Given the description of an element on the screen output the (x, y) to click on. 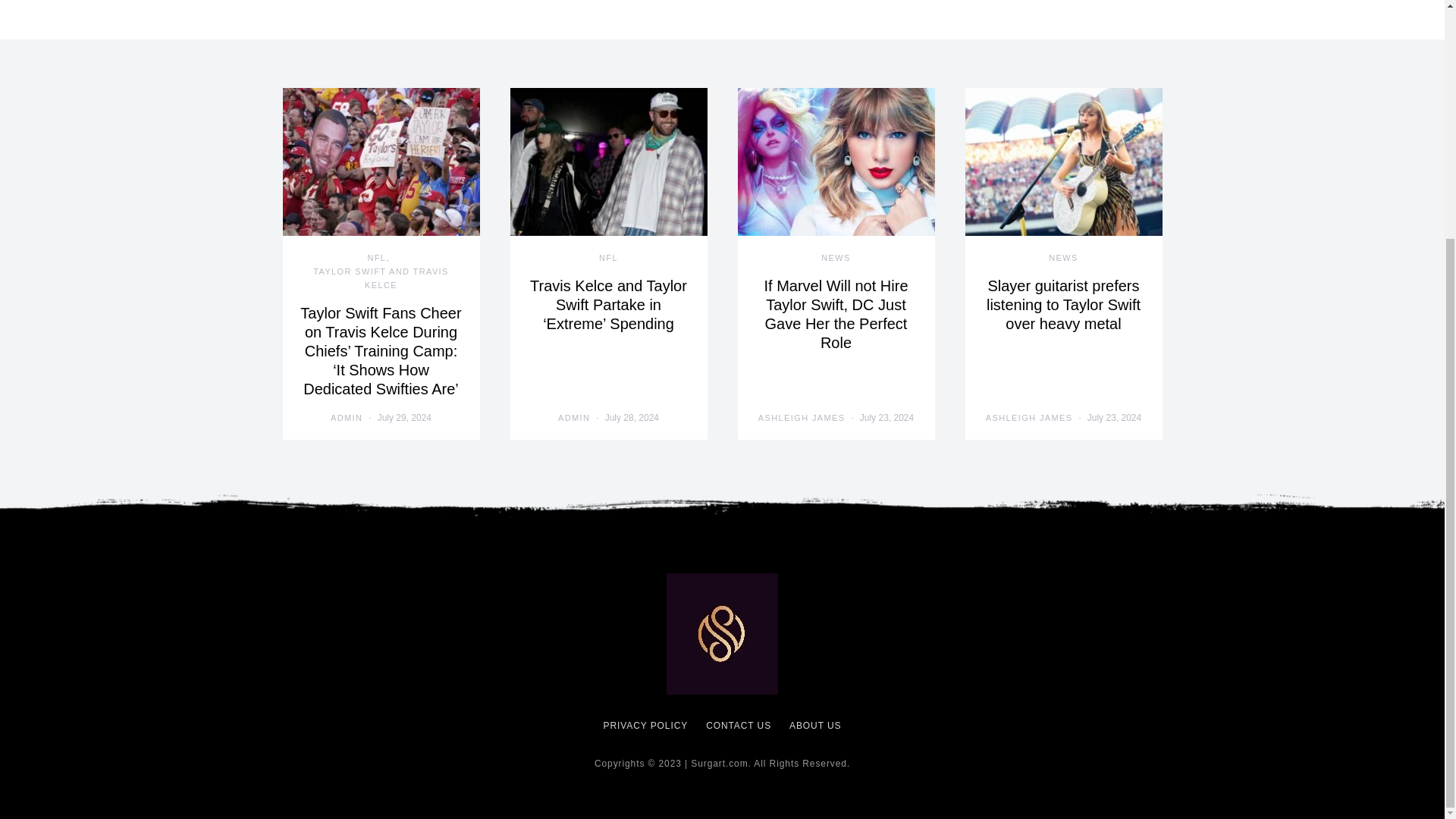
ASHLEIGH JAMES (801, 418)
TAYLOR SWIFT AND TRAVIS KELCE (380, 277)
NFL (607, 257)
View all posts by admin (573, 418)
ADMIN (346, 418)
NEWS (835, 257)
View all posts by admin (346, 418)
